Given the description of an element on the screen output the (x, y) to click on. 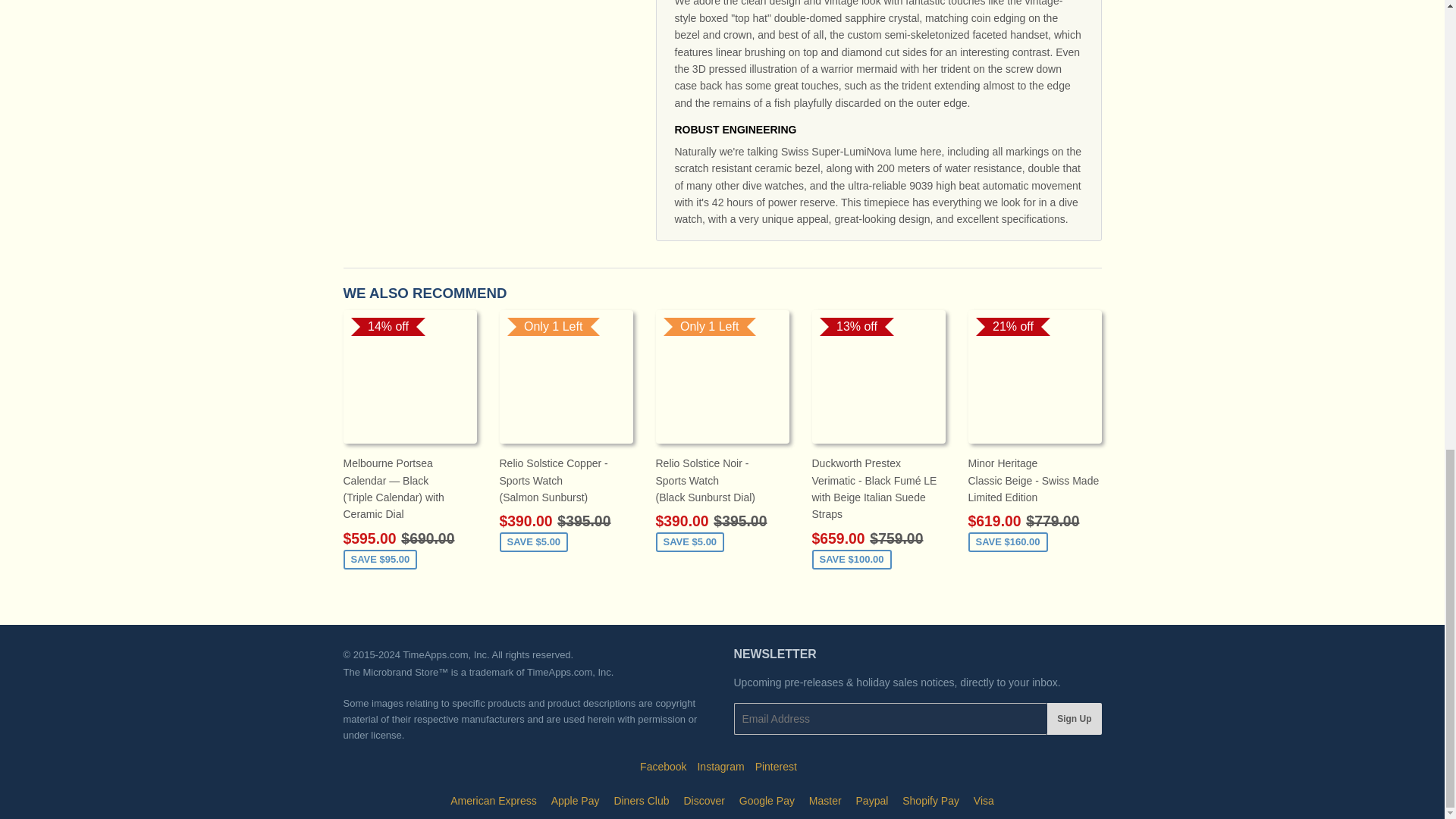
The Microbrand Store on Instagram (720, 766)
The Microbrand Store on Facebook (662, 766)
The Microbrand Store on Pinterest (775, 766)
